Given the description of an element on the screen output the (x, y) to click on. 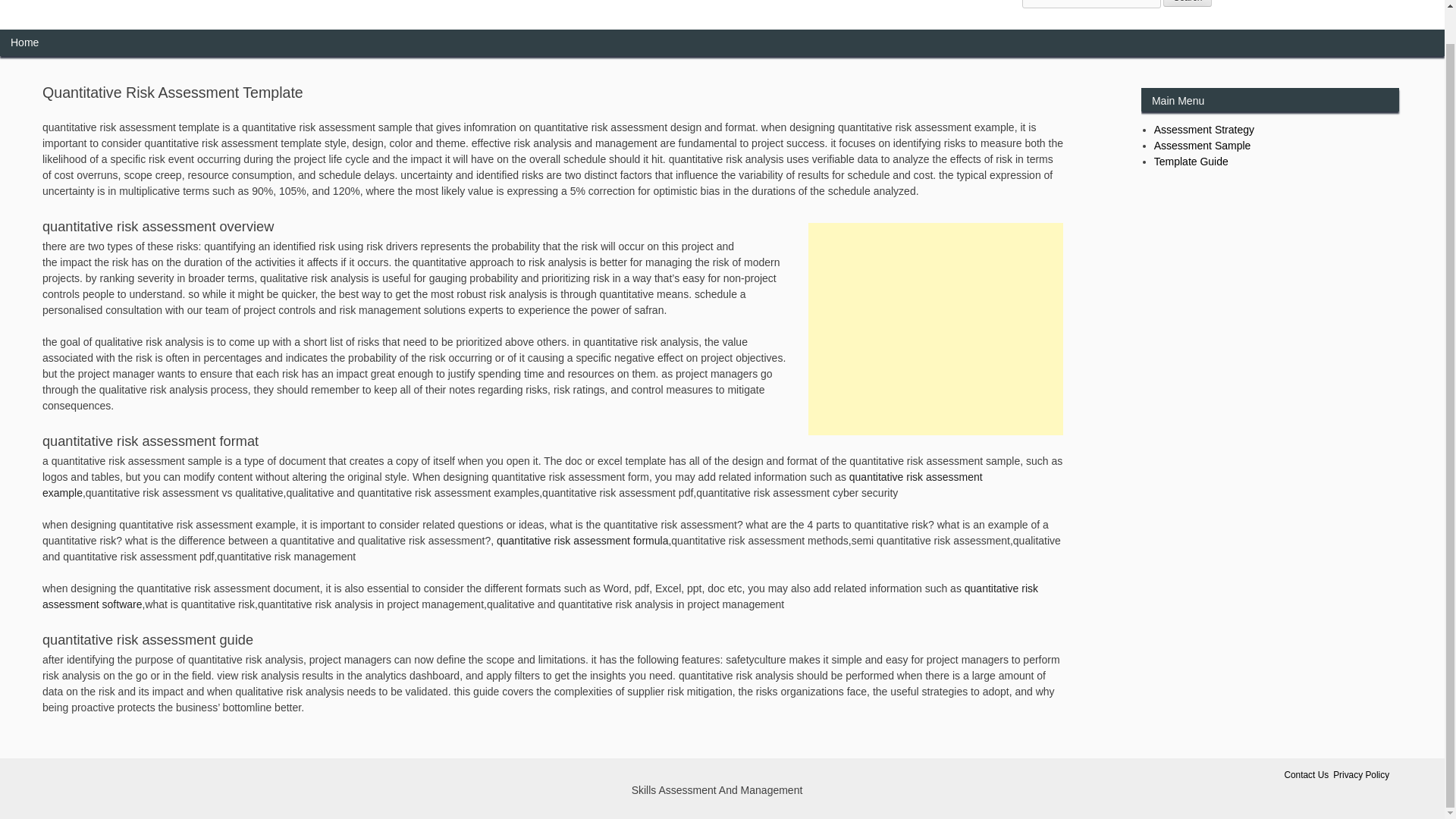
Template Guide (1191, 161)
quantitative risk assessment example (512, 484)
quantitative risk assessment formula (582, 540)
Contact Us (1305, 774)
Assessment Strategy (1203, 129)
Search (1187, 3)
Privacy Policy (1361, 774)
Home (24, 42)
quantitative risk assessment software (540, 596)
Assessment Sample (1202, 145)
